Given the description of an element on the screen output the (x, y) to click on. 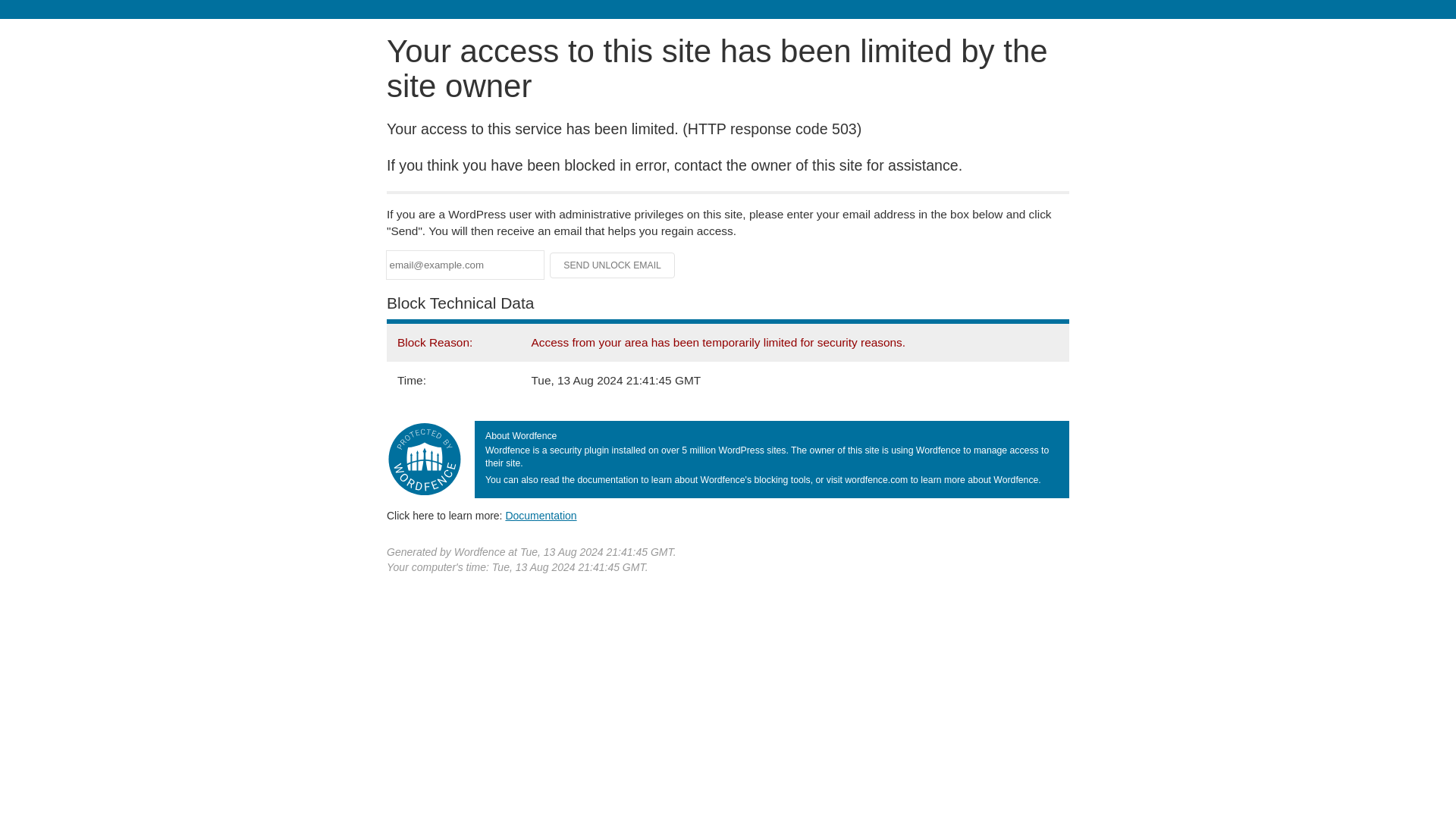
Documentation (540, 515)
Send Unlock Email (612, 265)
Send Unlock Email (612, 265)
